Given the description of an element on the screen output the (x, y) to click on. 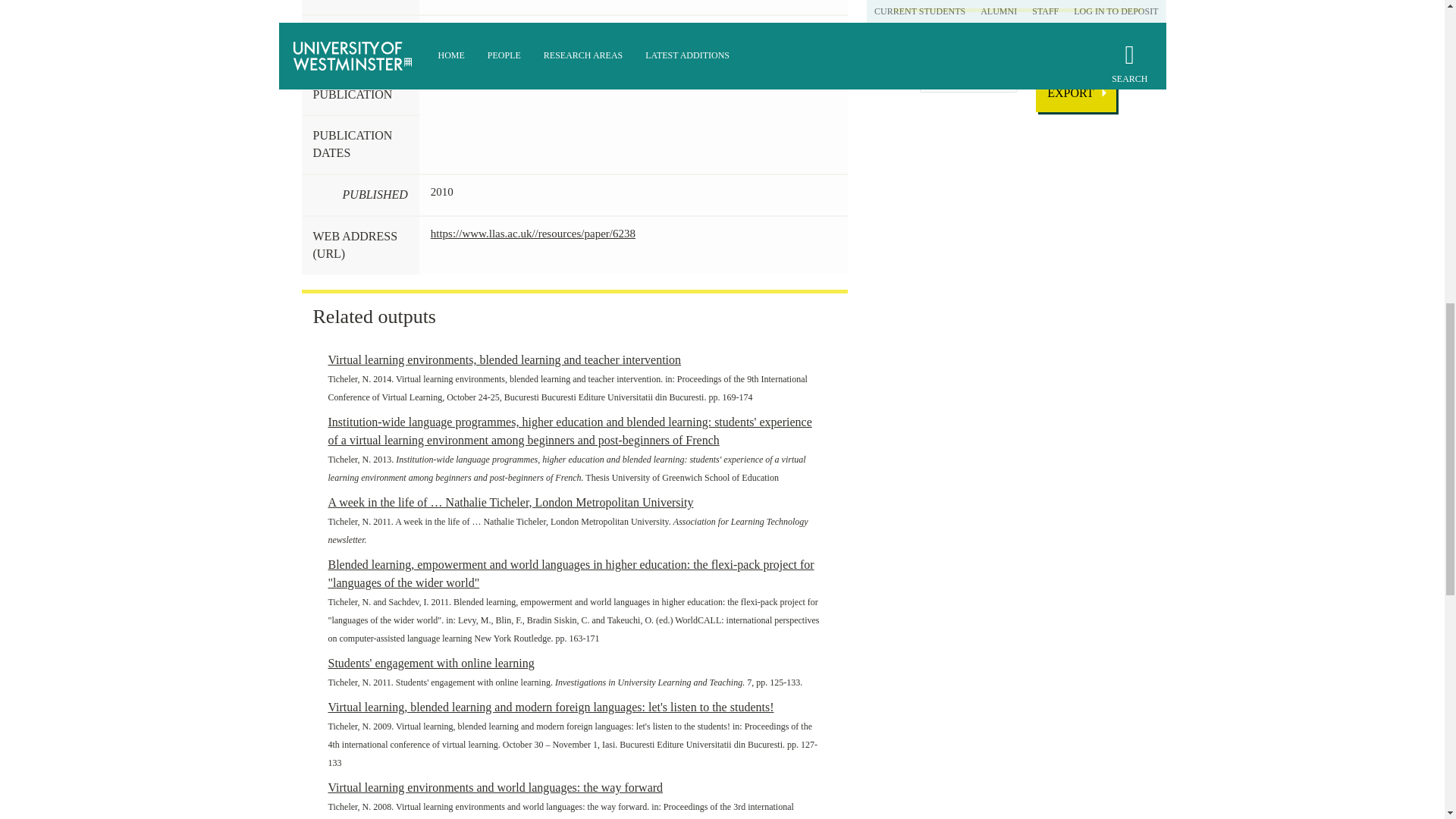
EXPORT (1075, 93)
Students' engagement with online learning (430, 662)
